Given the description of an element on the screen output the (x, y) to click on. 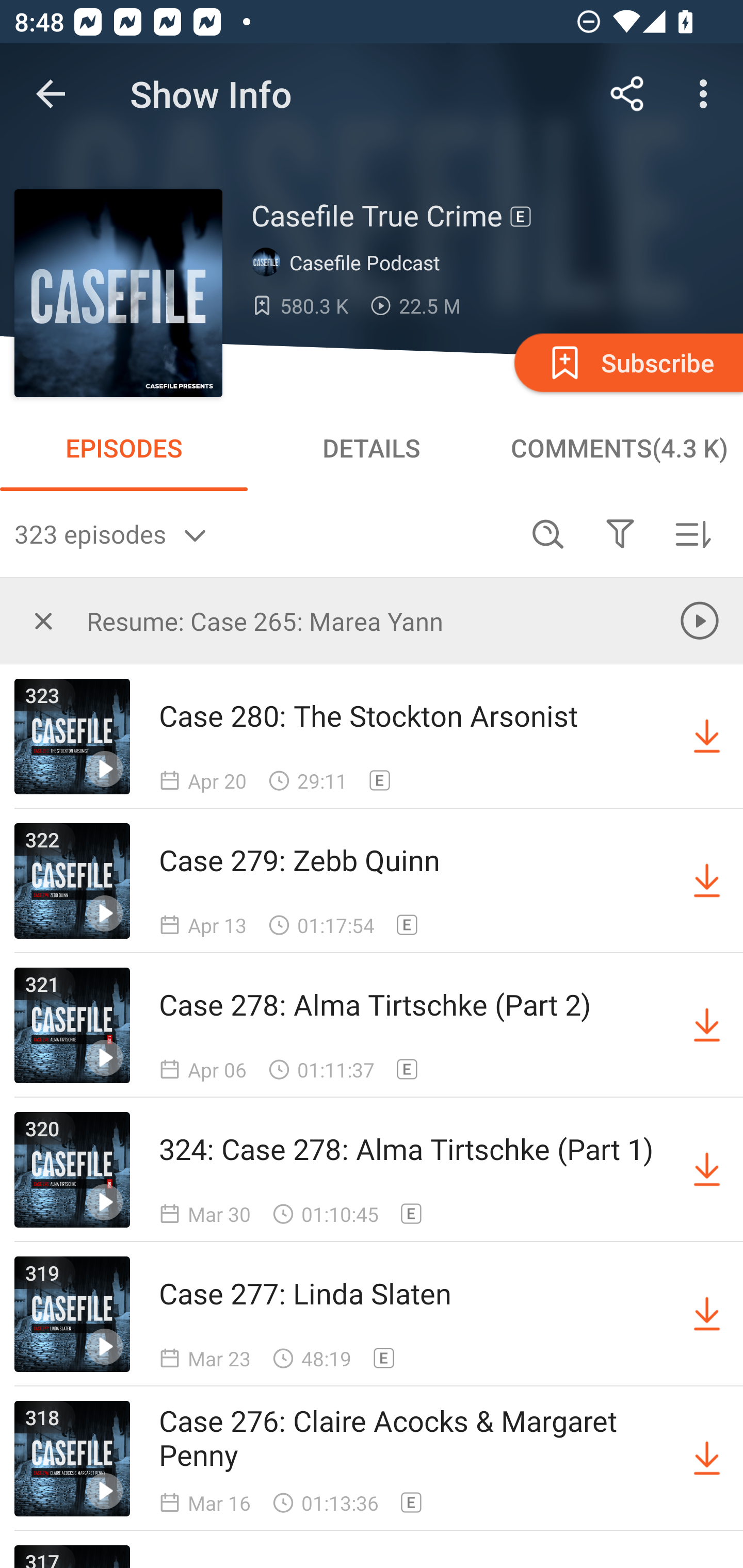
Navigate up (50, 93)
Share (626, 93)
More options (706, 93)
Casefile Podcast (350, 262)
Subscribe (627, 361)
EPISODES (123, 447)
DETAILS (371, 447)
COMMENTS(4.3 K) (619, 447)
323 episodes  (262, 533)
 Search (547, 533)
 (619, 533)
 Sorted by newest first (692, 533)
 (43, 620)
Download (706, 736)
Download (706, 881)
Download (706, 1025)
Download (706, 1169)
Download (706, 1313)
Download (706, 1458)
